Given the description of an element on the screen output the (x, y) to click on. 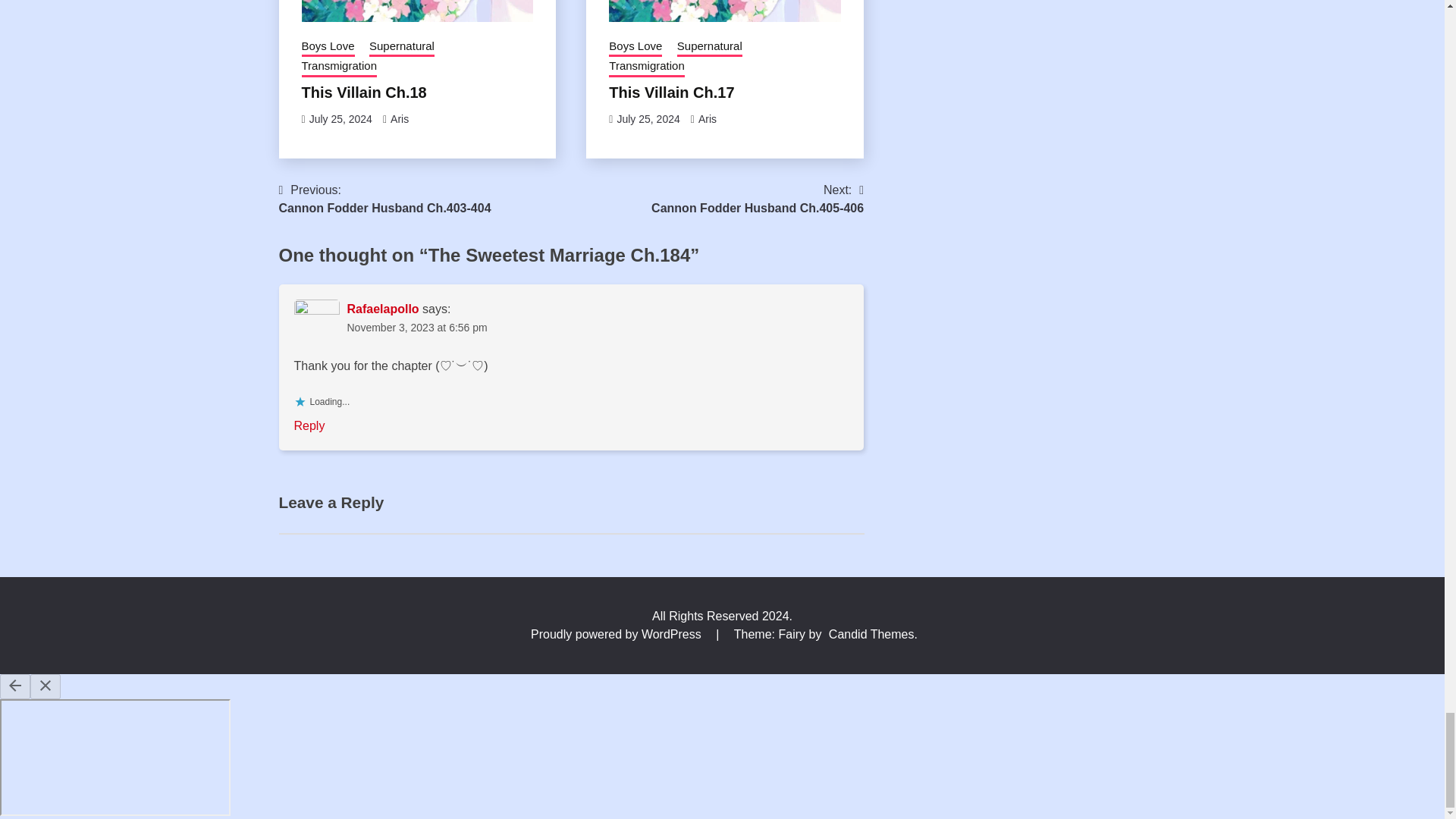
Boys Love (328, 47)
Supernatural (401, 47)
Aris (399, 119)
This Villain Ch.18 (363, 92)
July 25, 2024 (340, 119)
Transmigration (339, 66)
